Given the description of an element on the screen output the (x, y) to click on. 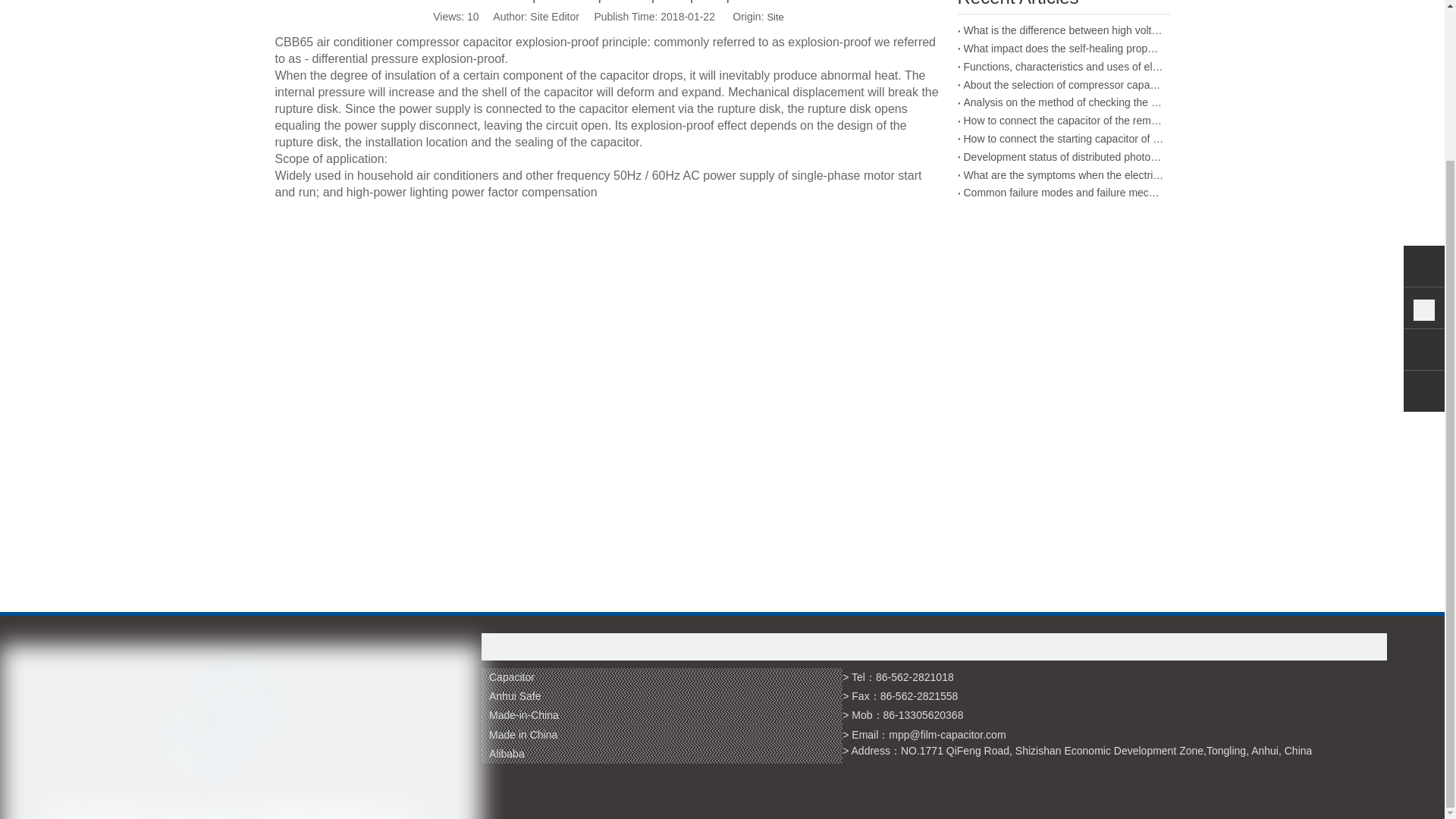
Analysis on the method of checking the compressor capacitor (1062, 103)
Common failure modes and failure mechanisms of capacitors (1062, 193)
About the selection of compressor capacitors (1062, 85)
